Given the description of an element on the screen output the (x, y) to click on. 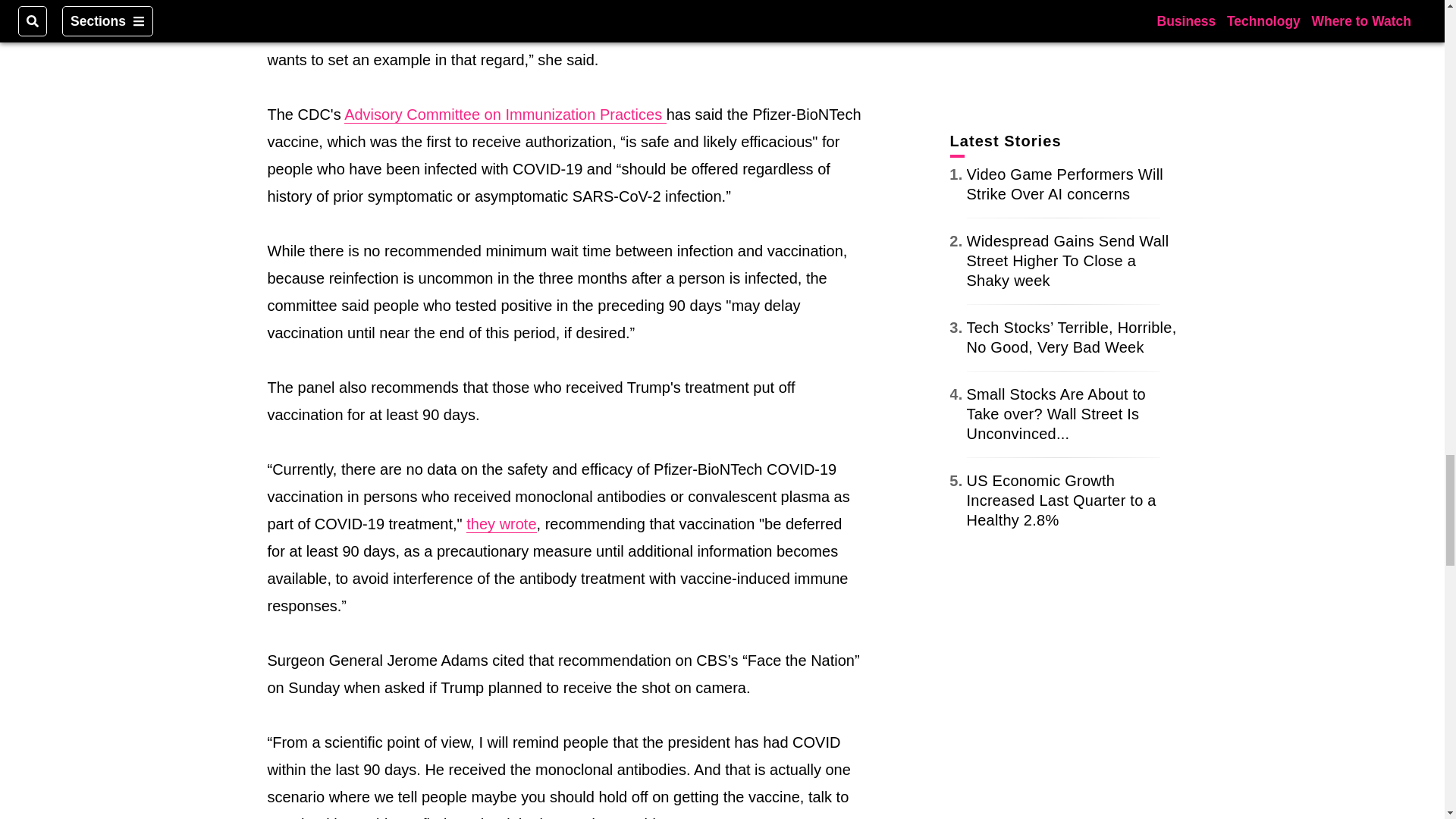
they wrote (500, 524)
Advisory Committee on Immunization Practices  (504, 114)
